Given the description of an element on the screen output the (x, y) to click on. 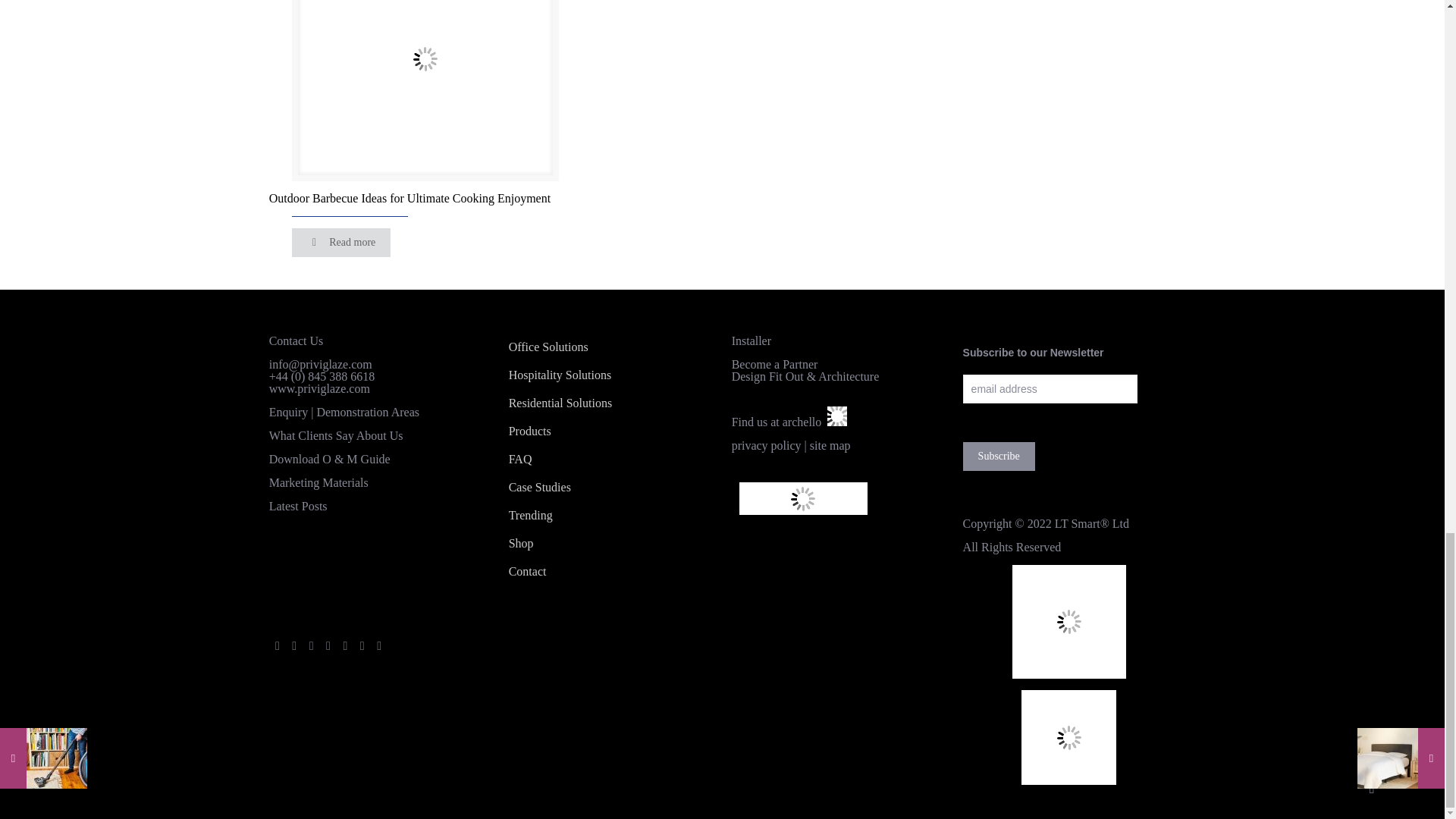
Babecue-Area-80694.jpeg - Priviglaze Smart Glass UK (425, 93)
Subscribe (998, 456)
